Given the description of an element on the screen output the (x, y) to click on. 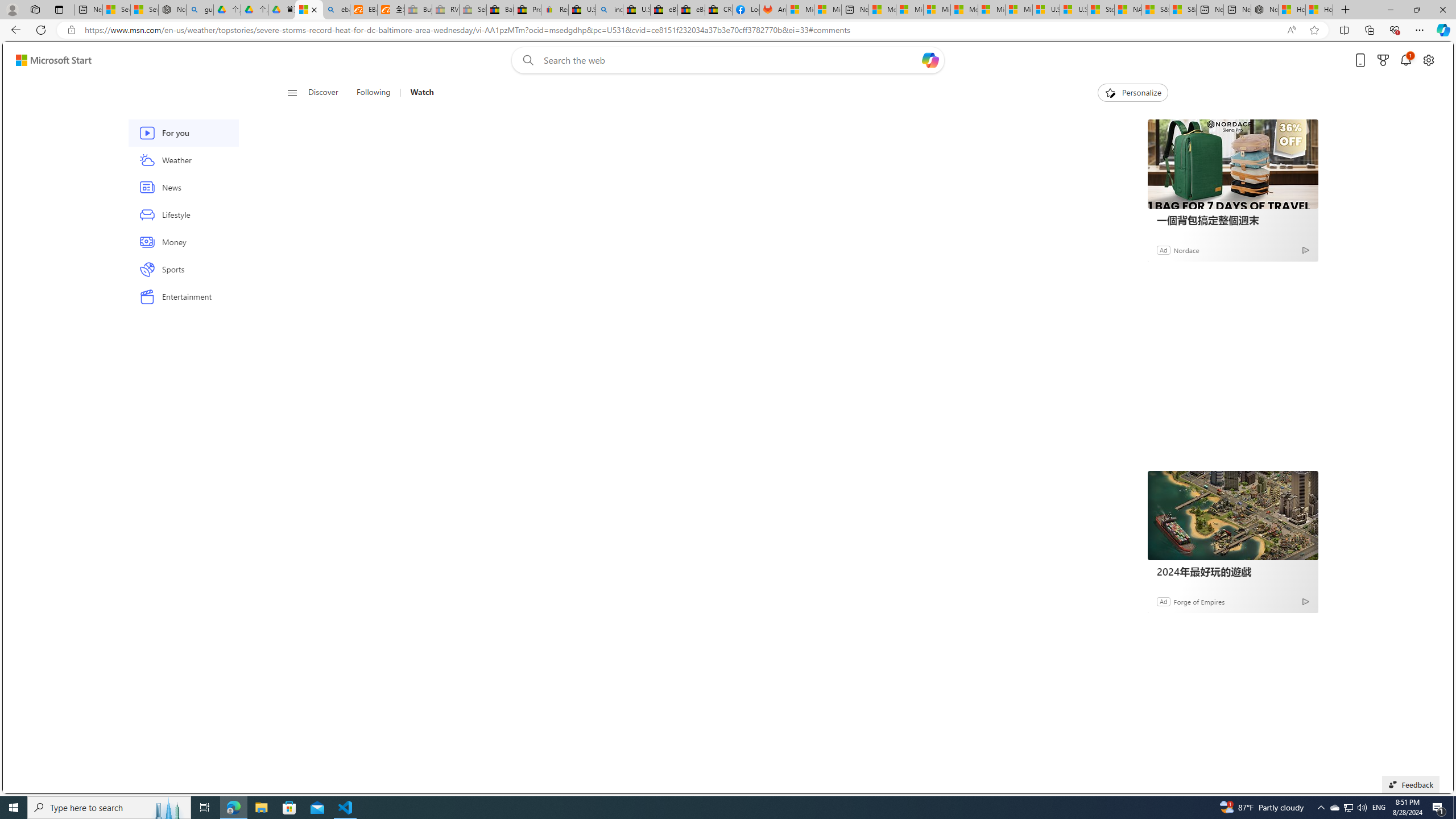
Microsoft rewards (1382, 60)
Microsoft account | Home (936, 9)
Enter your search term (730, 59)
Forge of Empires (1198, 601)
including - Search (609, 9)
